Given the description of an element on the screen output the (x, y) to click on. 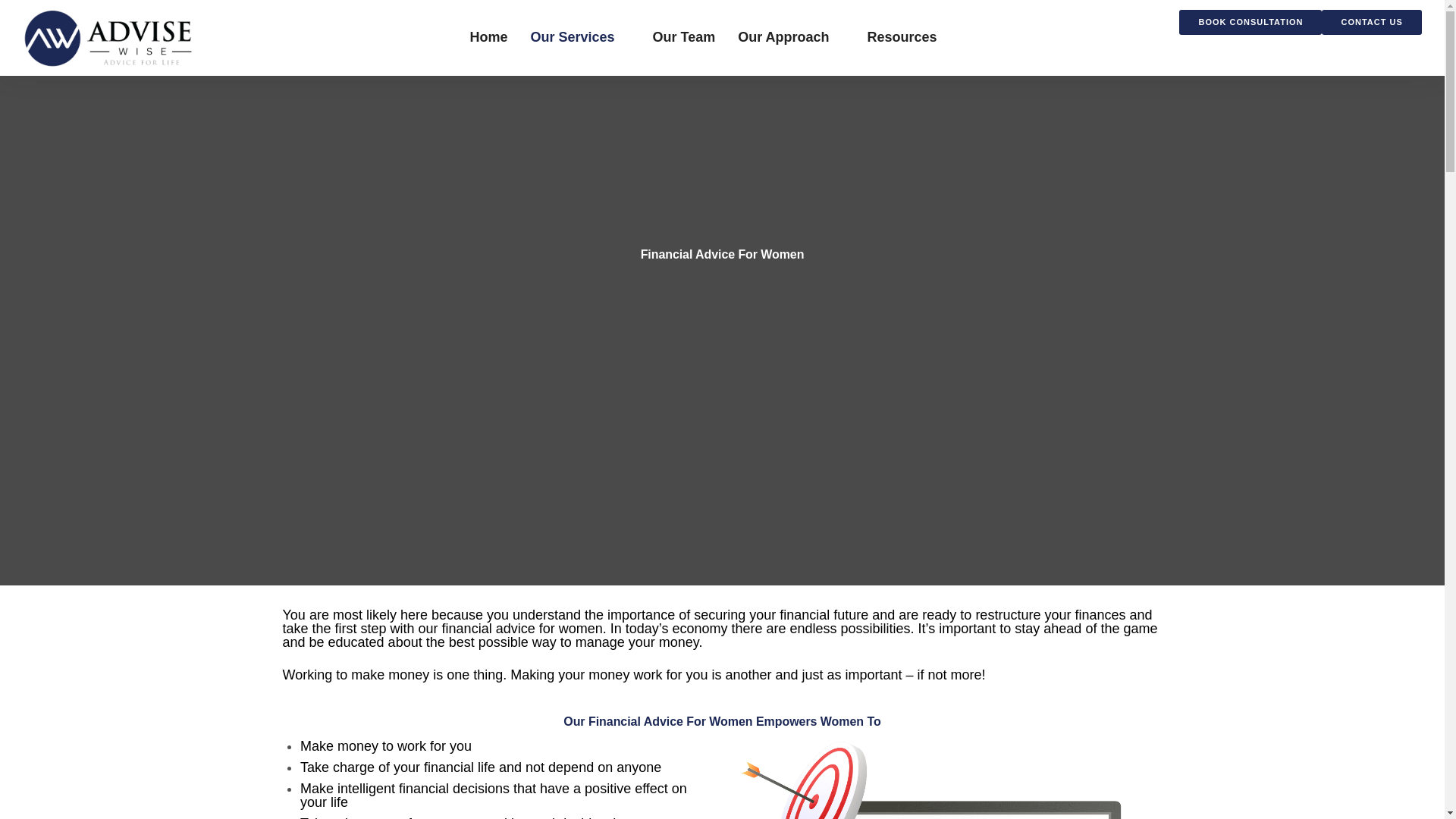
Our Team (683, 37)
Home (488, 37)
Resources (902, 37)
Our Services (571, 37)
Our Services (571, 37)
Home (488, 37)
Our Team (683, 37)
Our Approach (782, 37)
Resources (902, 37)
Our Approach (782, 37)
